Given the description of an element on the screen output the (x, y) to click on. 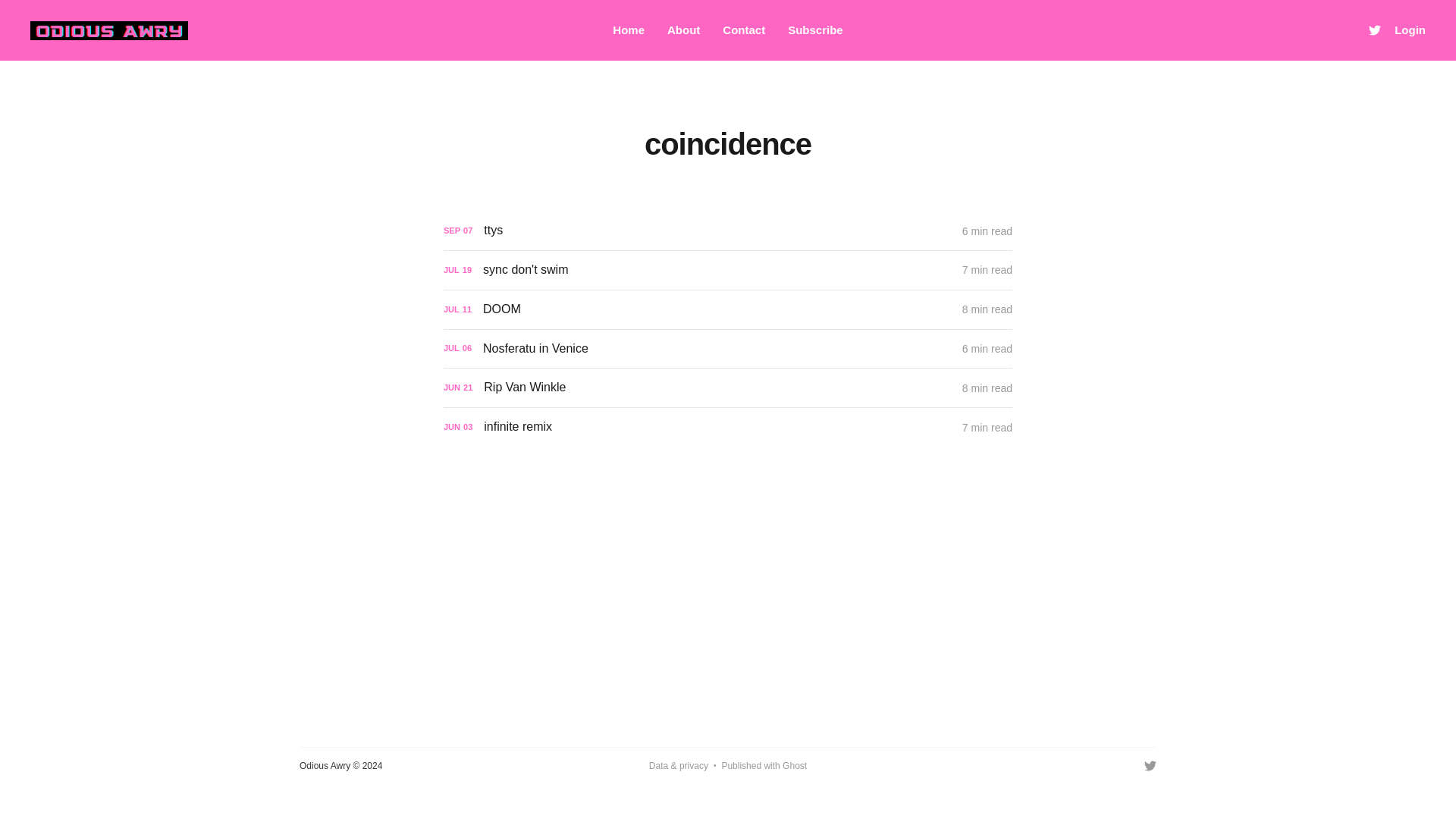
Contact (743, 30)
Subscribe (815, 30)
About (683, 30)
Home (628, 30)
Published with Ghost (763, 766)
Login (1409, 30)
